Given the description of an element on the screen output the (x, y) to click on. 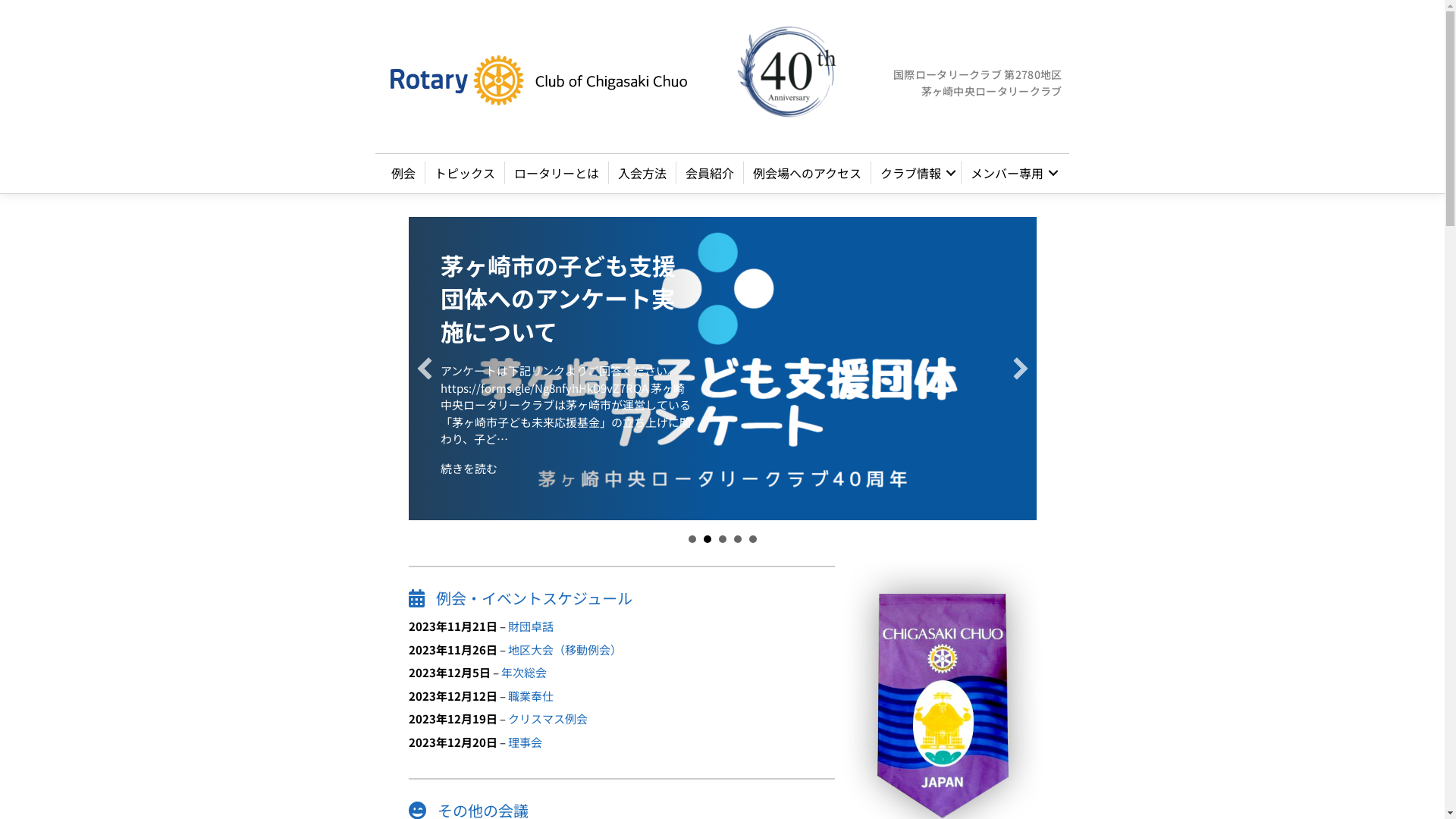
3 Element type: text (722, 538)
4 Element type: text (737, 538)
5 Element type: text (752, 538)
1 Element type: text (692, 538)
2 Element type: text (707, 538)
